Given the description of an element on the screen output the (x, y) to click on. 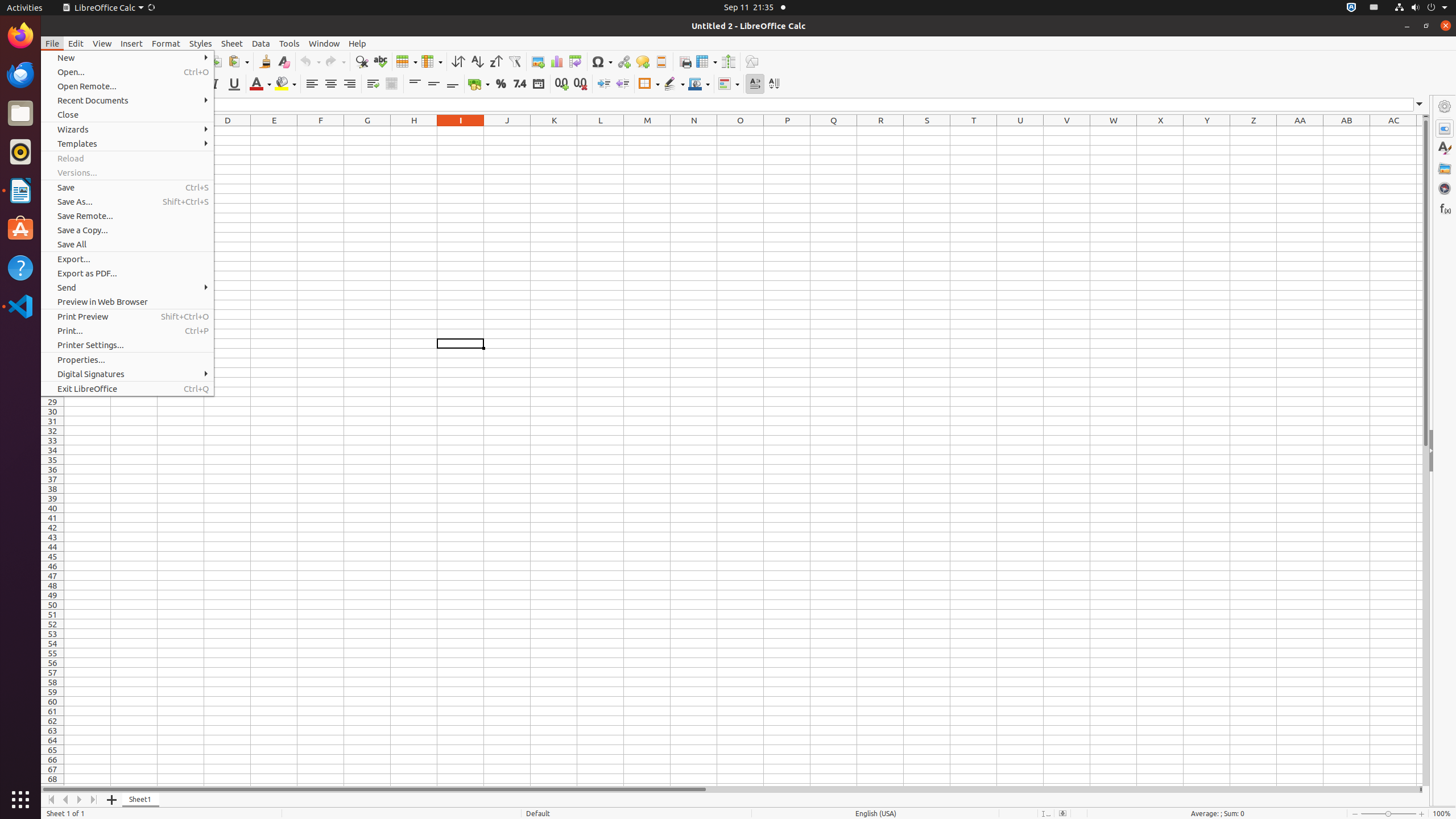
Styles Element type: menu (200, 43)
F1 Element type: table-cell (320, 130)
Underline Element type: push-button (233, 83)
AD1 Element type: table-cell (1419, 130)
Versions... Element type: menu-item (126, 172)
